Given the description of an element on the screen output the (x, y) to click on. 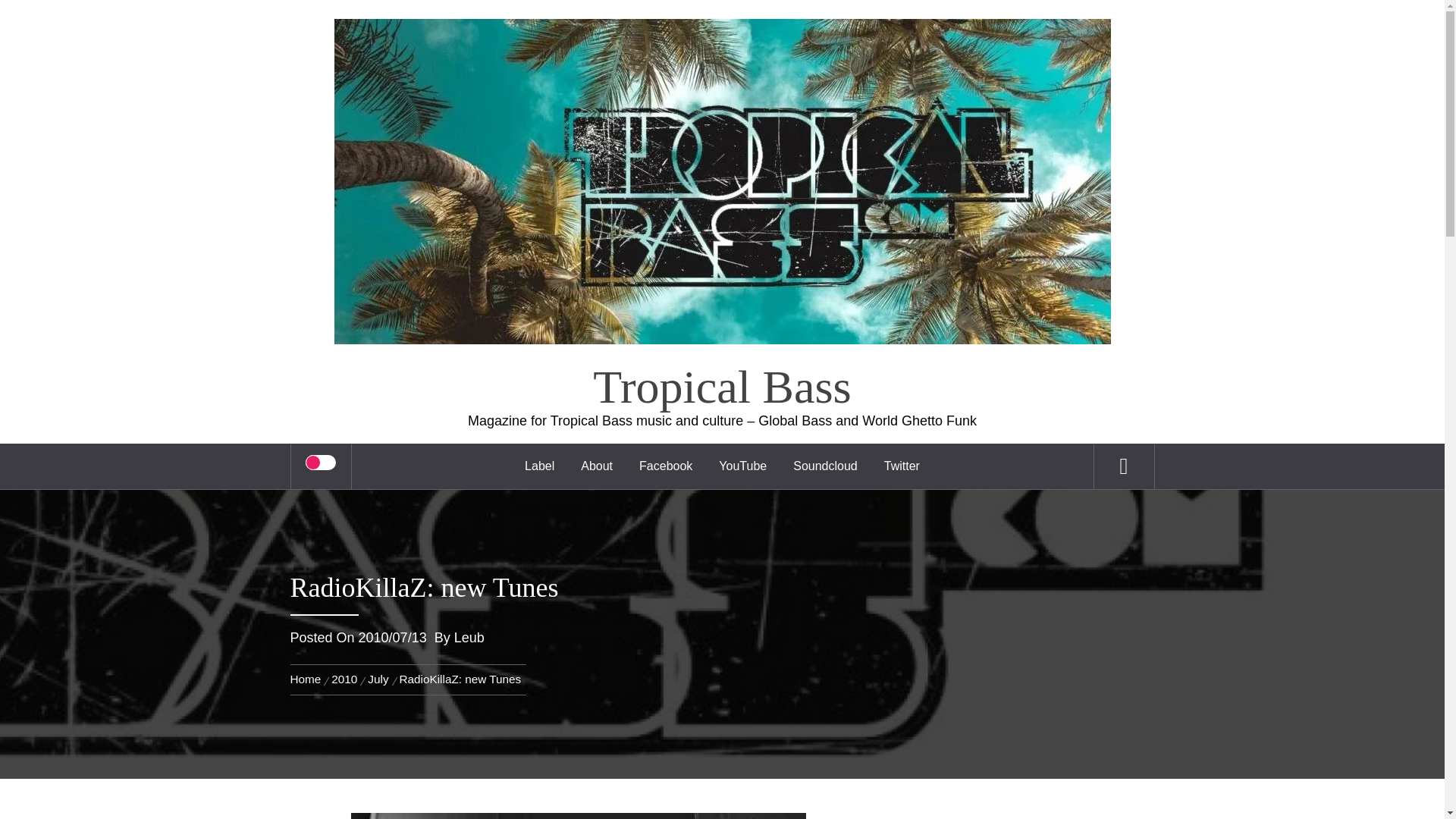
Facebook (665, 465)
Soundcloud (825, 465)
July (377, 678)
Twitter (901, 465)
YouTube (742, 465)
Label (539, 465)
About (596, 465)
Home (307, 678)
Tropical Bass (721, 386)
Leub (469, 637)
2010 (344, 678)
Search (797, 33)
